Given the description of an element on the screen output the (x, y) to click on. 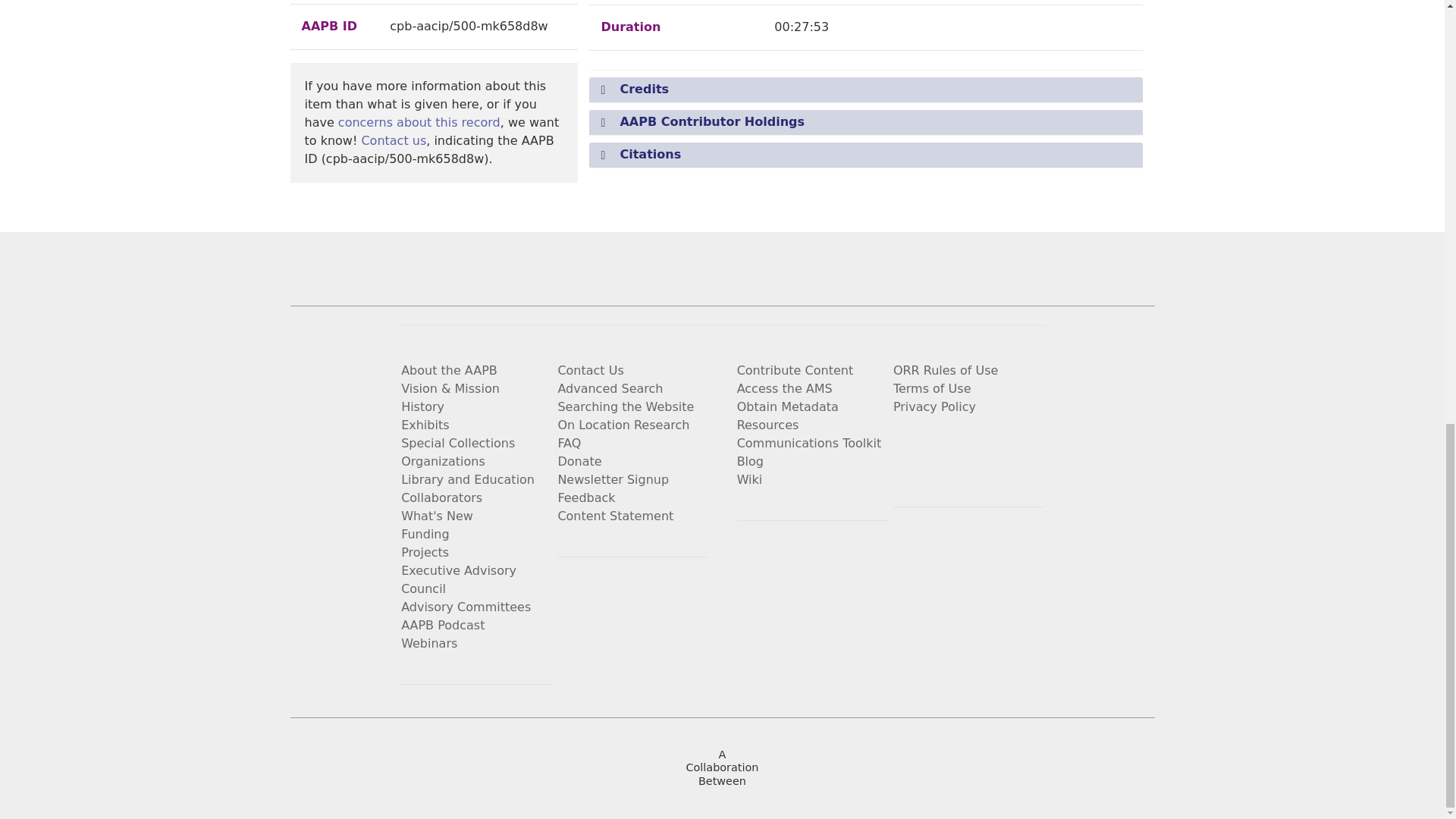
Follow us on Mastodon (941, 469)
Read the AAPB Blog (905, 440)
The Library of Congress (545, 774)
Listen to our Podcast (905, 469)
Follow us on Instagram (1014, 440)
GBH Archives (899, 774)
Follow us on Twitter (941, 440)
Join us on reddit (978, 469)
Like us on Facebook (978, 440)
